Given the description of an element on the screen output the (x, y) to click on. 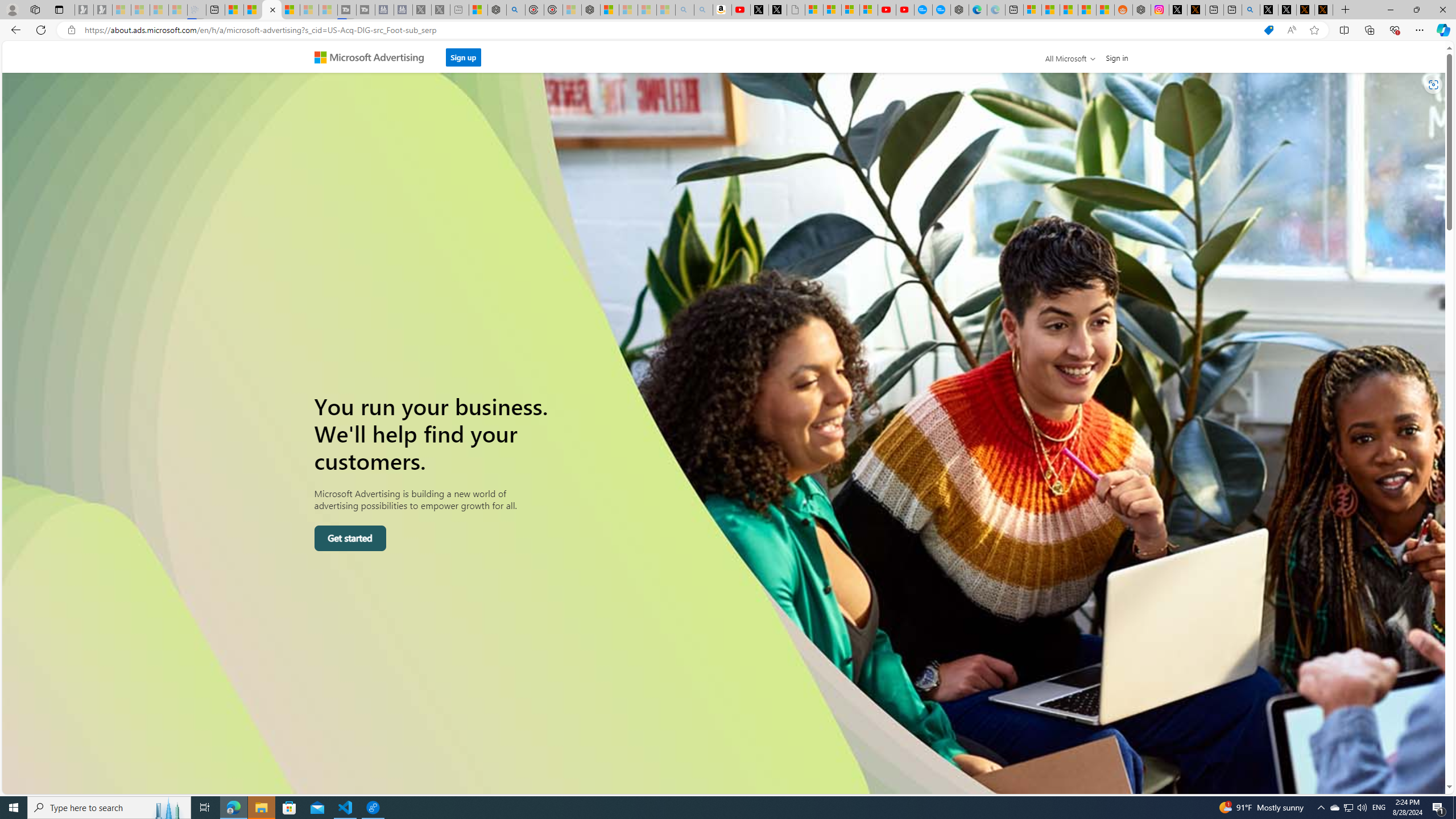
Microsoft account | Microsoft Account Privacy Settings (1032, 9)
